Given the description of an element on the screen output the (x, y) to click on. 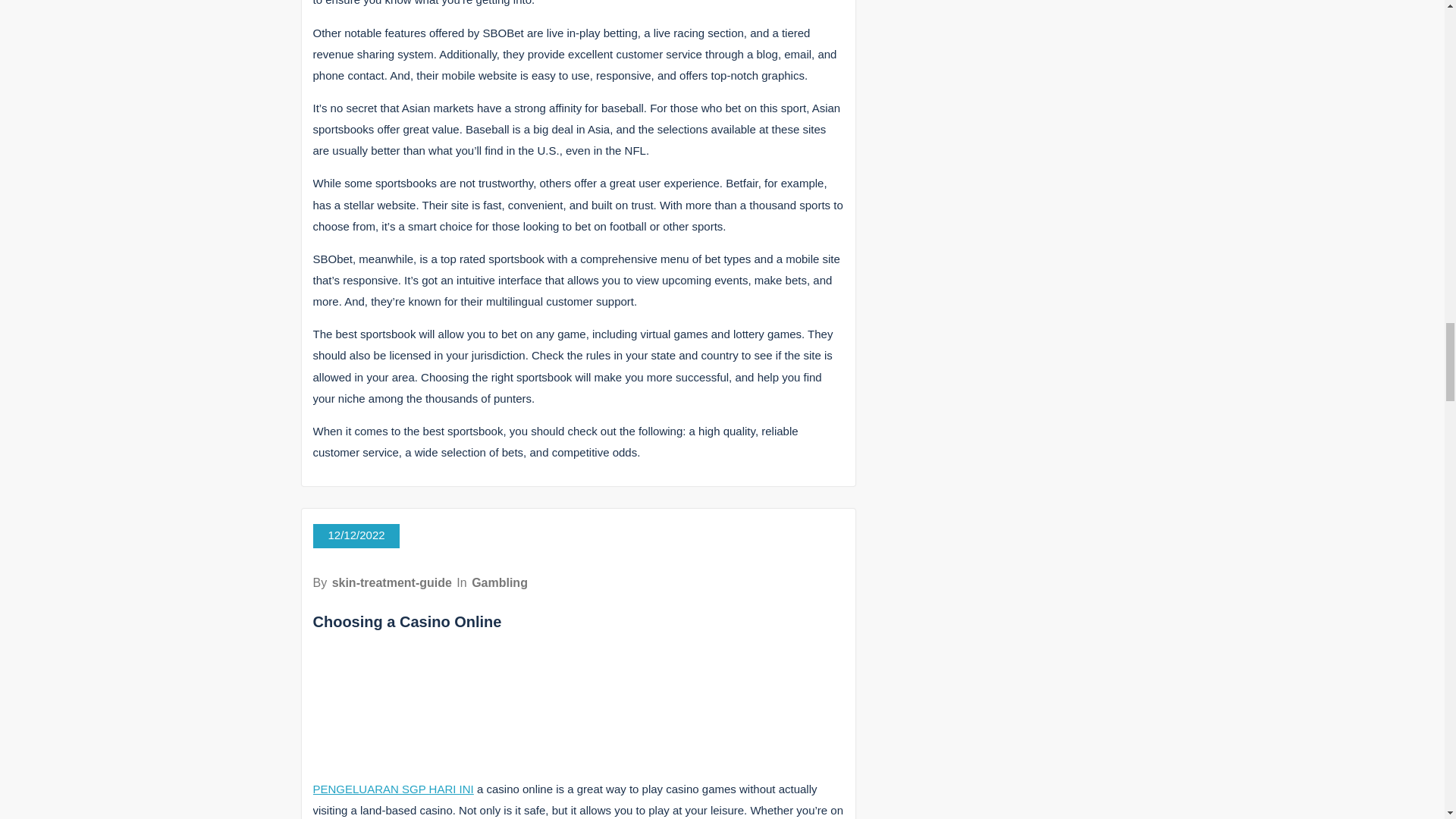
skin-treatment-guide (391, 582)
Gambling (499, 582)
PENGELUARAN SGP HARI INI (393, 788)
Choosing a Casino Online (406, 621)
